Given the description of an element on the screen output the (x, y) to click on. 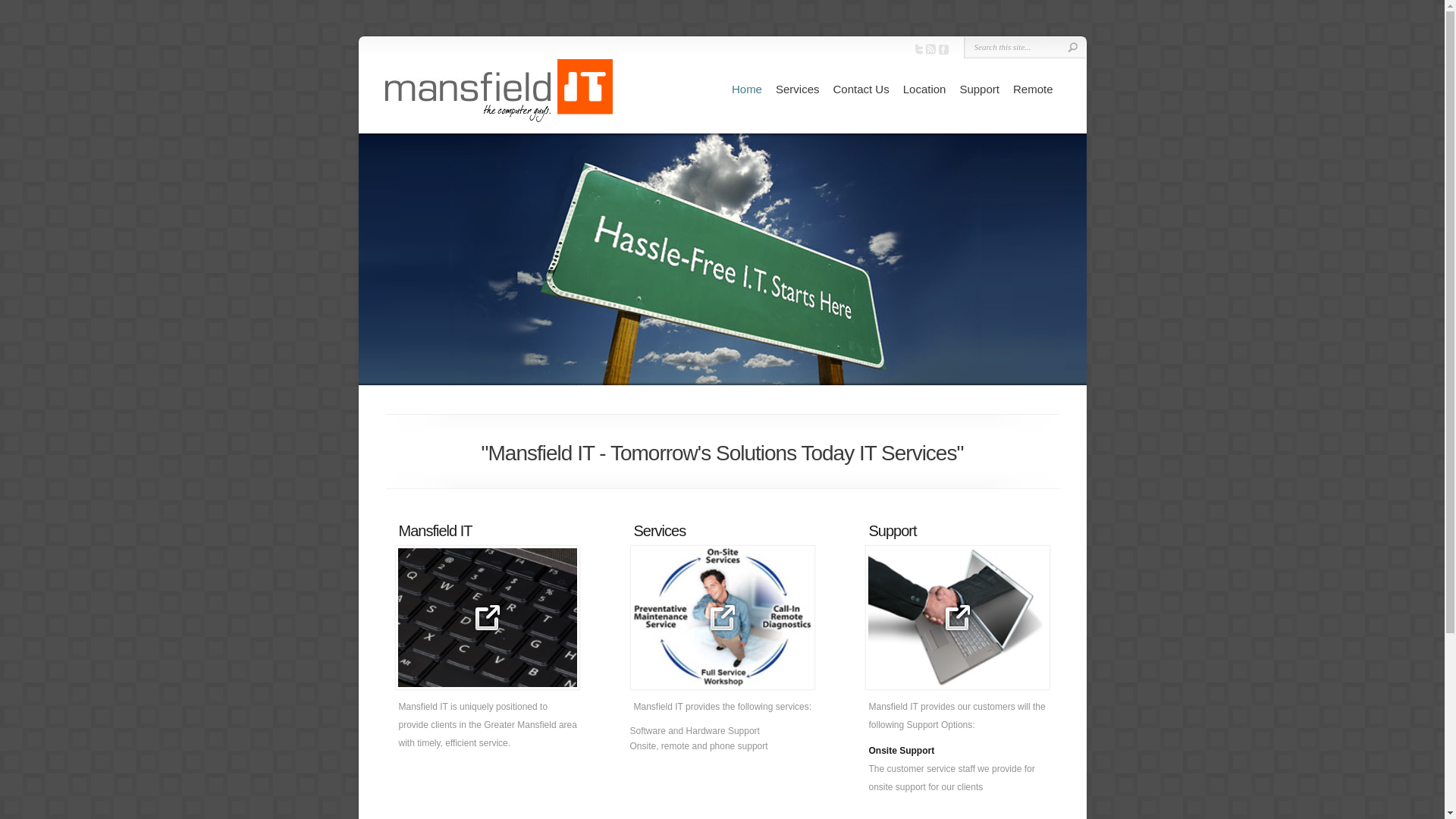
Support Element type: text (979, 89)
Home Element type: text (746, 89)
Contact Us Element type: text (860, 89)
Remote Element type: text (1033, 89)
Services Element type: text (797, 89)
Location Element type: text (924, 89)
